Given the description of an element on the screen output the (x, y) to click on. 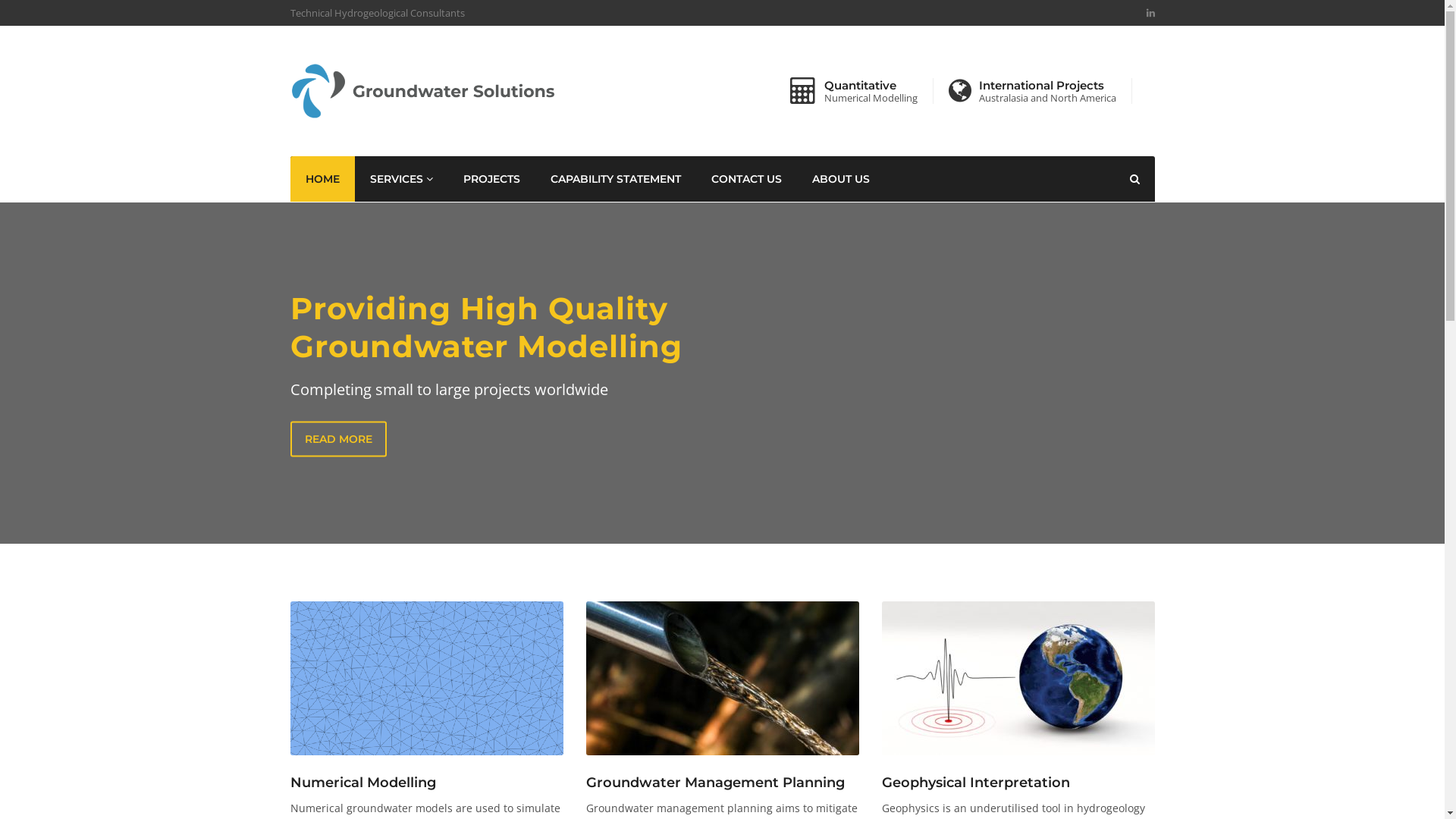
HOME Element type: text (321, 178)
CAPABILITY STATEMENT Element type: text (615, 178)
ABOUT US Element type: text (840, 178)
PROJECTS Element type: text (490, 178)
CONTACT US Element type: text (746, 178)
SERVICES Element type: text (401, 178)
